Given the description of an element on the screen output the (x, y) to click on. 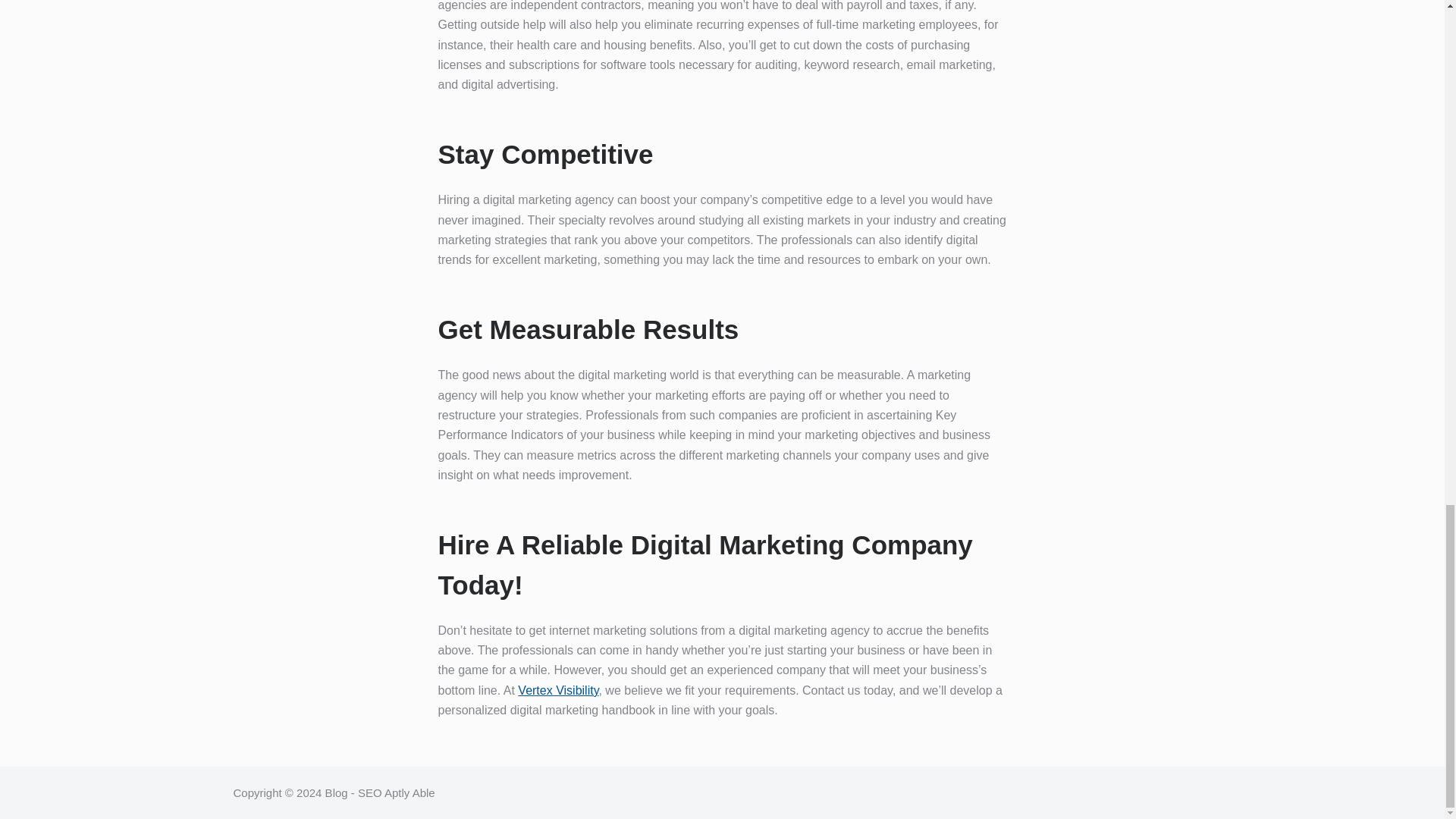
Vertex Visibility (558, 689)
